Given the description of an element on the screen output the (x, y) to click on. 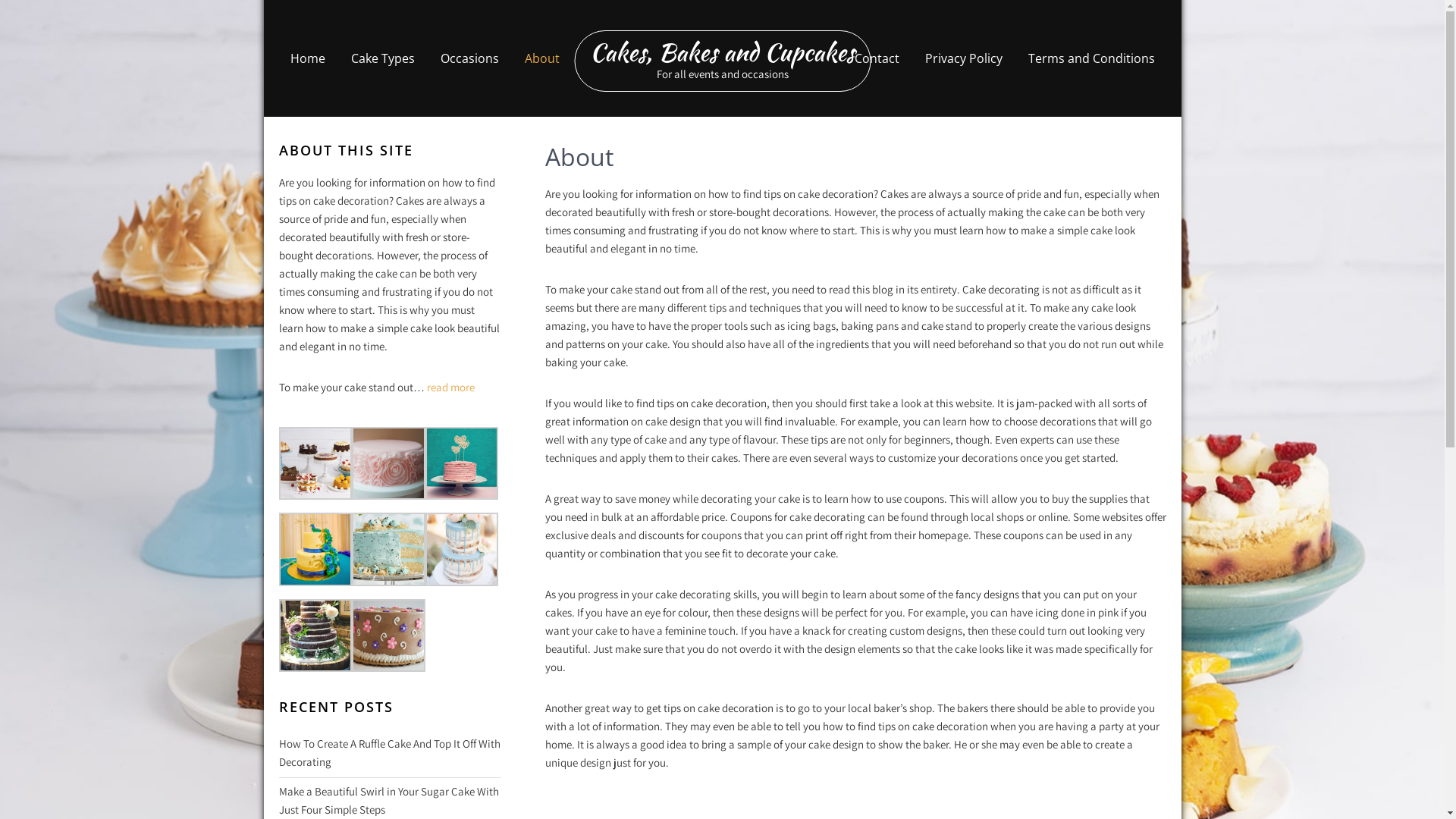
Cakes, Bakes and Cupcakes Element type: text (721, 51)
Home Element type: text (307, 58)
How To Create A Ruffle Cake And Top It Off With Decorating Element type: text (390, 752)
About Element type: text (541, 58)
read more Element type: text (449, 386)
Contact Element type: text (876, 58)
Cake Types Element type: text (382, 58)
Occasions Element type: text (469, 58)
Terms and Conditions Element type: text (1090, 58)
Privacy Policy Element type: text (963, 58)
